Given the description of an element on the screen output the (x, y) to click on. 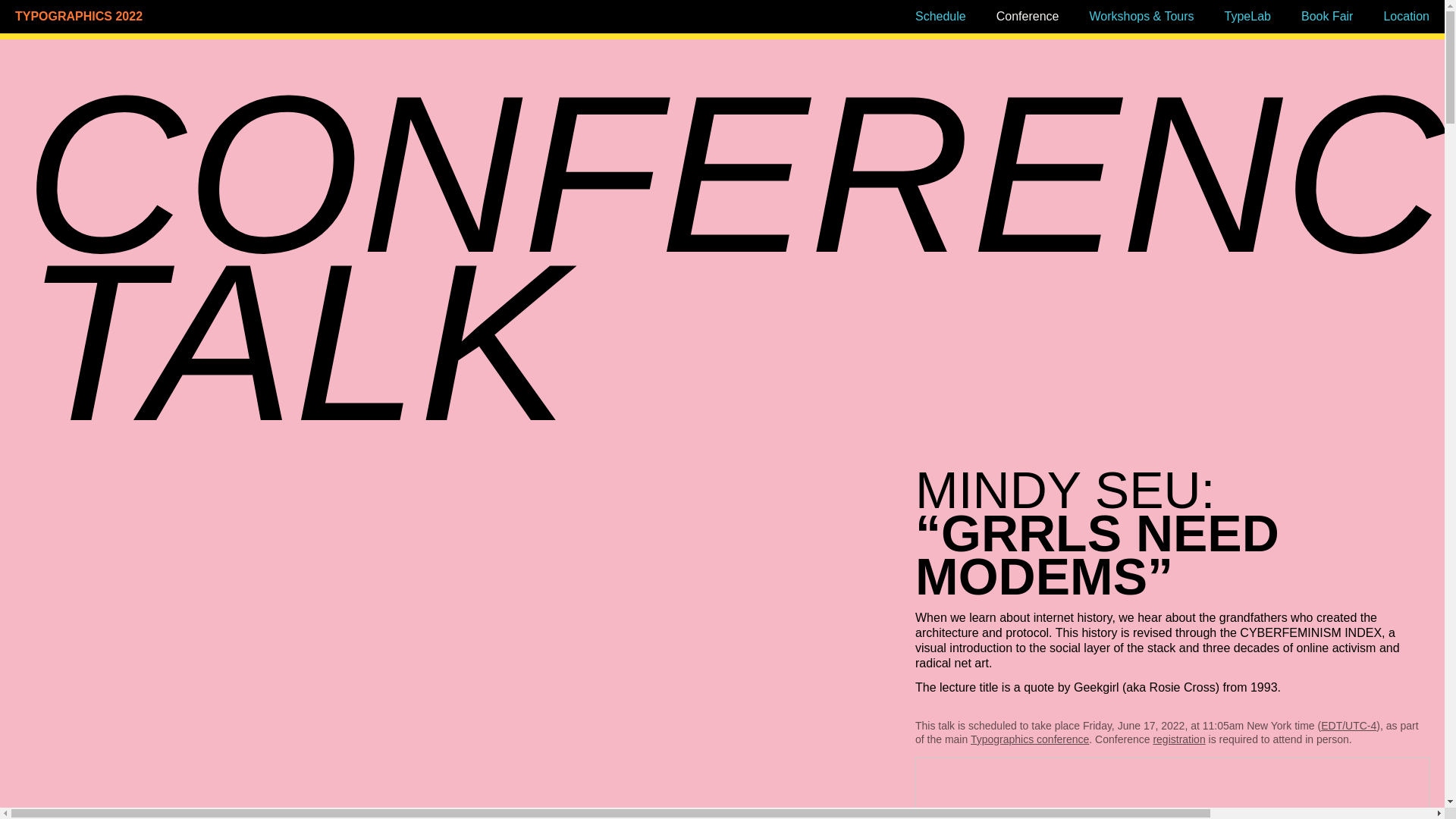
Book Fair (1326, 15)
Conference (1027, 15)
Location (1406, 15)
Schedule (940, 15)
registration (1179, 739)
Typographics conference (1030, 739)
TypeLab (1247, 15)
TYPOGRAPHICS 2022 (185, 16)
